Given the description of an element on the screen output the (x, y) to click on. 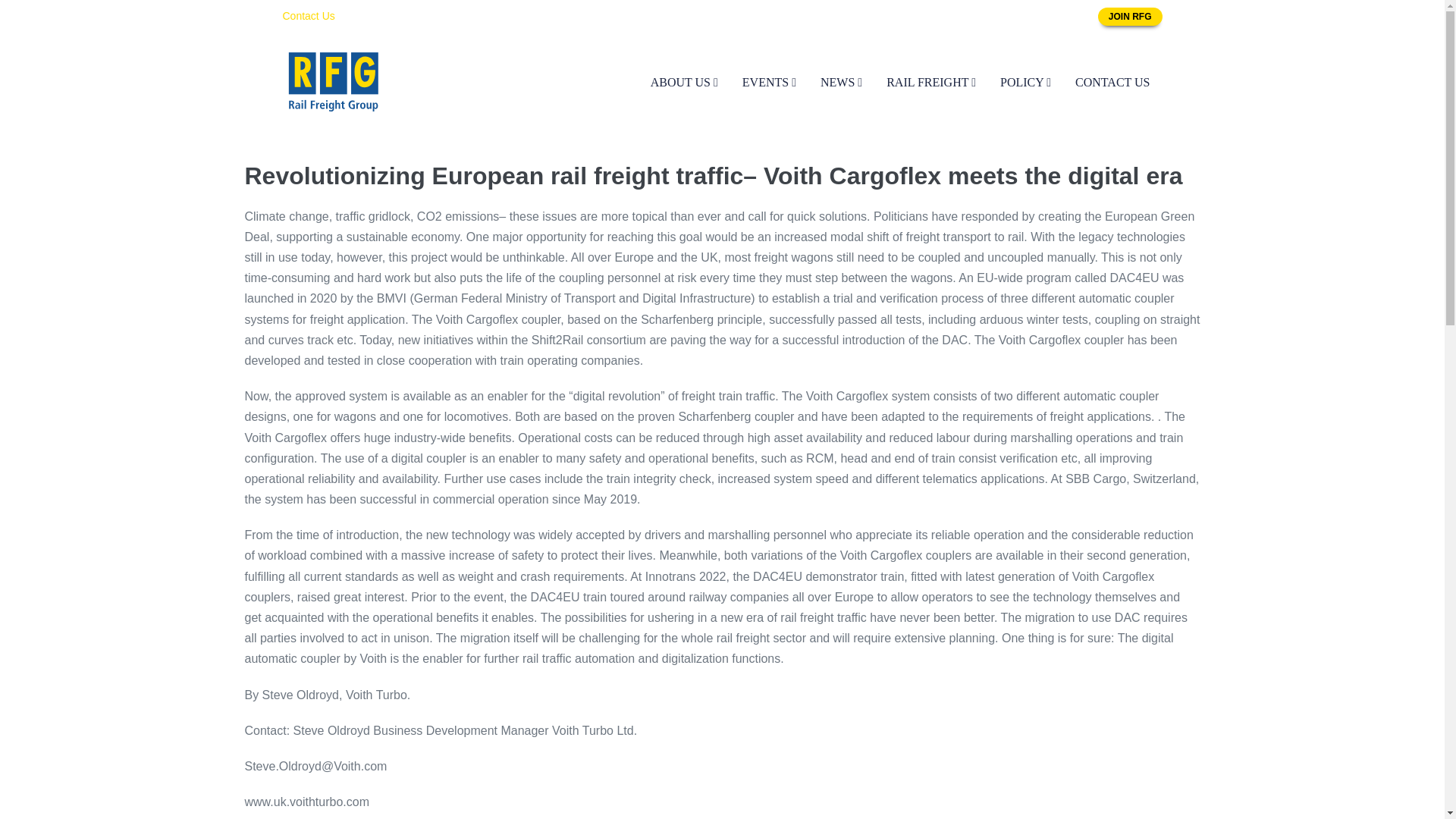
POLICY (1025, 81)
CONTACT US (1111, 81)
NEWS (841, 81)
Rail Freight Group (333, 82)
EVENTS (769, 81)
RAIL FREIGHT (931, 81)
Contact Us (308, 15)
ABOUT US (684, 81)
